Given the description of an element on the screen output the (x, y) to click on. 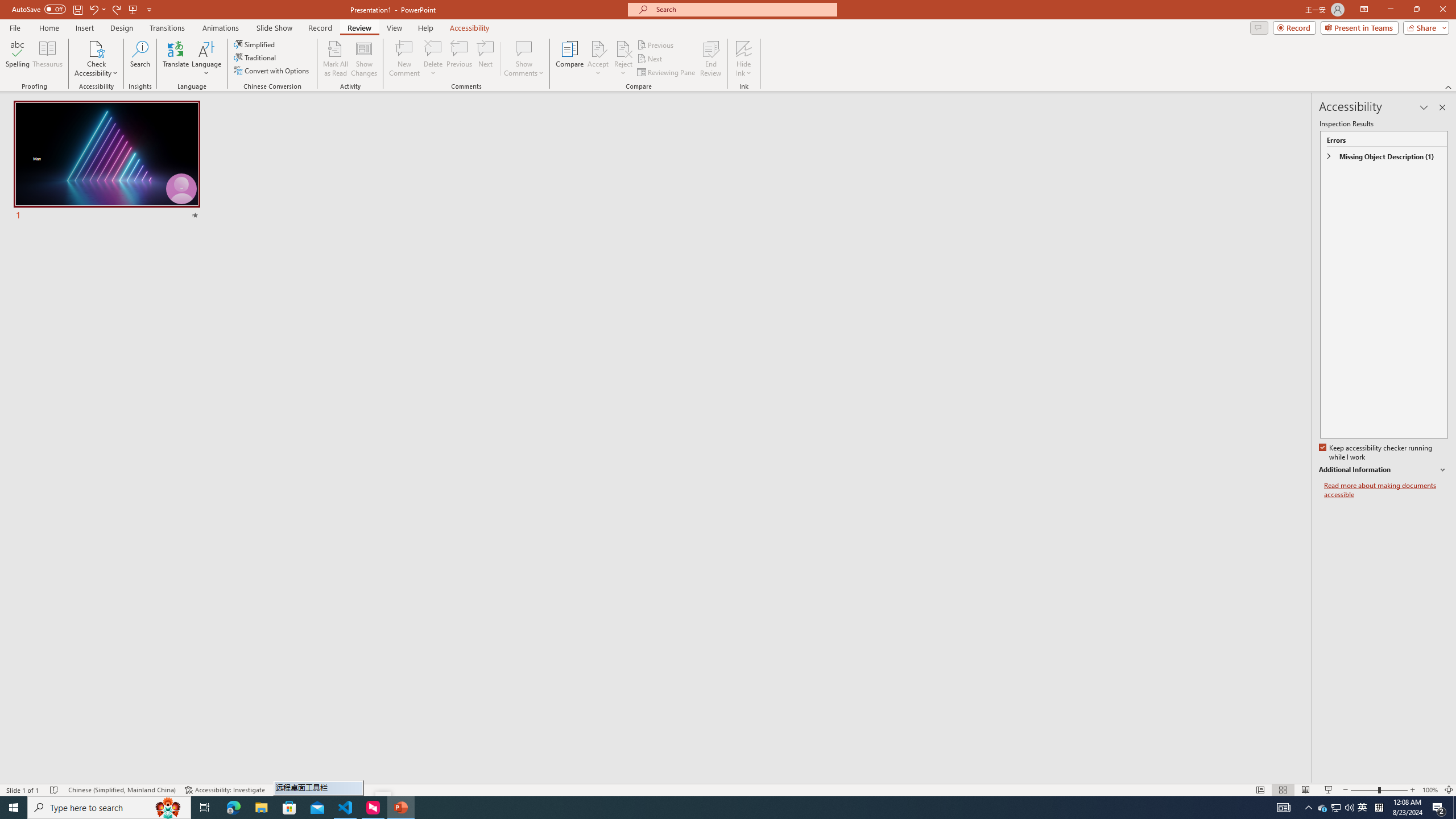
Read more about making documents accessible (1385, 489)
Show Changes (363, 58)
Compare (569, 58)
Show Comments (524, 48)
Zoom 100% (1430, 790)
Reviewing Pane (666, 72)
